Given the description of an element on the screen output the (x, y) to click on. 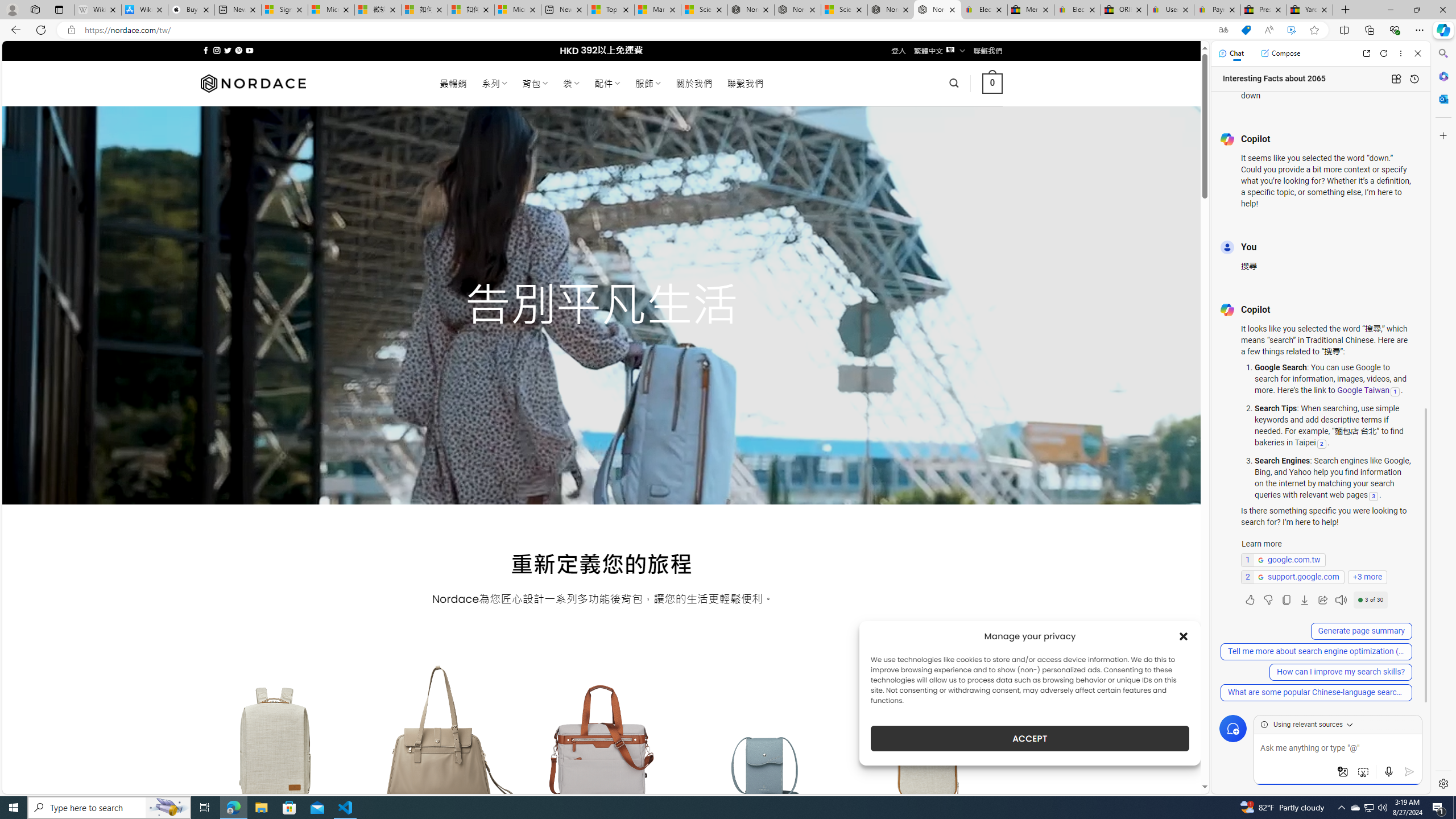
Payments Terms of Use | eBay.com (1216, 9)
  0   (992, 83)
Follow on Pinterest (237, 50)
